Given the description of an element on the screen output the (x, y) to click on. 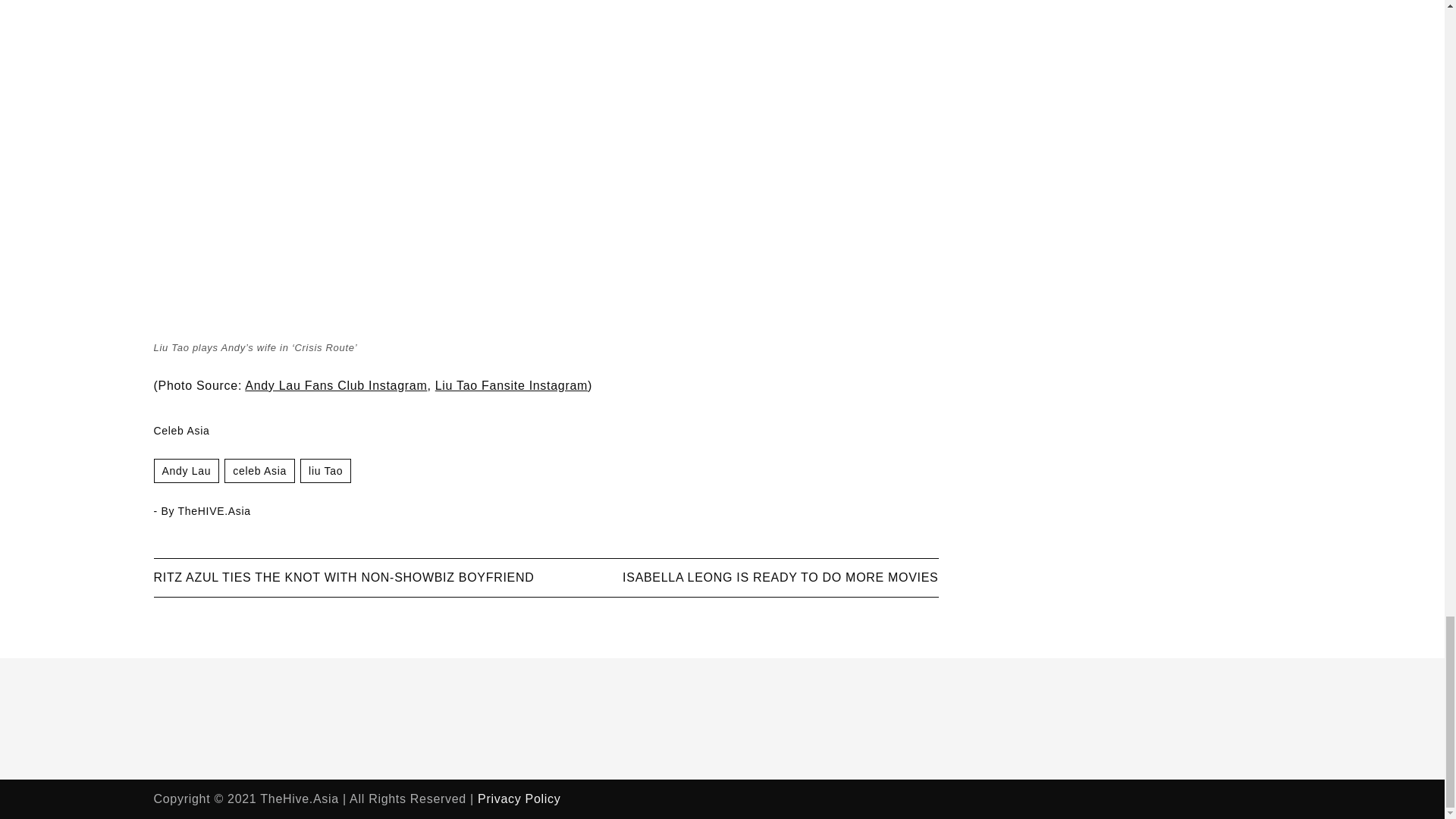
Celeb Asia (180, 430)
RITZ AZUL TIES THE KNOT WITH NON-SHOWBIZ BOYFRIEND (343, 576)
Liu Tao Fansite Instagram (511, 385)
Liu Tao (324, 470)
ISABELLA LEONG IS READY TO DO MORE MOVIES (780, 576)
Andy Lau (185, 470)
TheHIVE.Asia (213, 510)
Celeb Asia (259, 470)
Andy Lau Fans Club Instagram (335, 385)
